Given the description of an element on the screen output the (x, y) to click on. 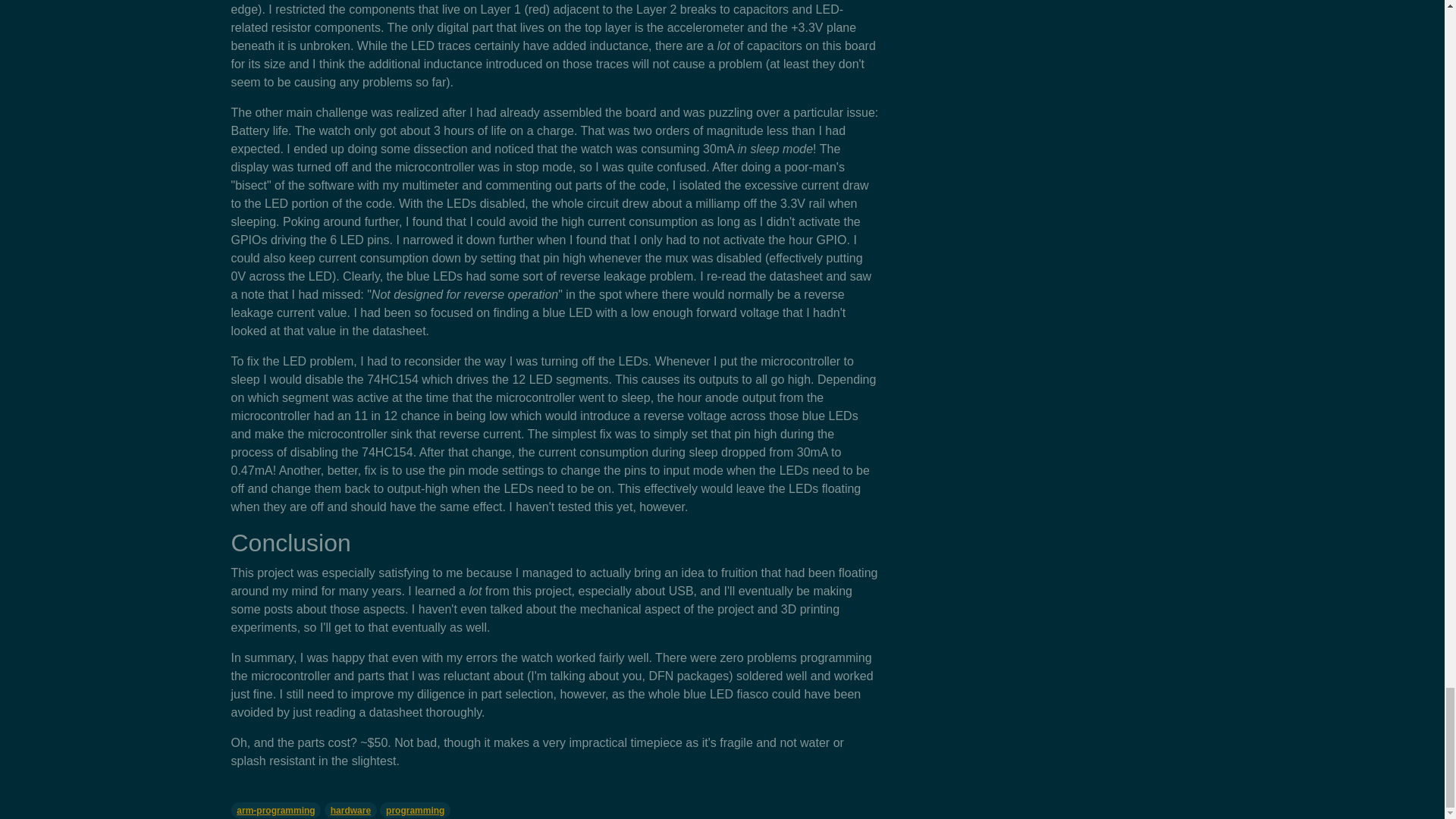
programming (414, 809)
hardware (350, 809)
arm-programming (275, 809)
